Given the description of an element on the screen output the (x, y) to click on. 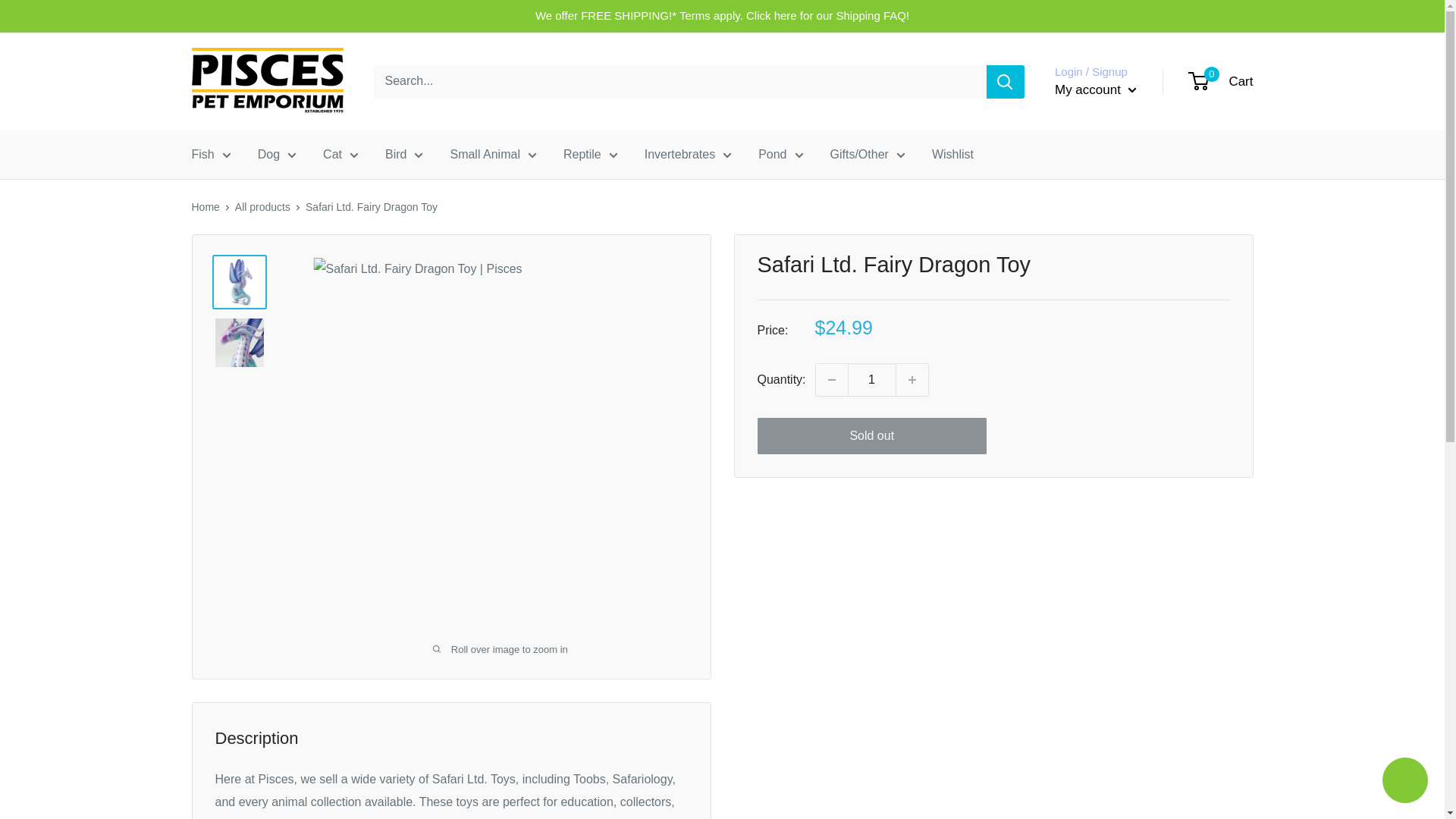
Shopify online store chat (1404, 781)
1 (871, 379)
Increase quantity by 1 (912, 379)
Decrease quantity by 1 (831, 379)
